Given the description of an element on the screen output the (x, y) to click on. 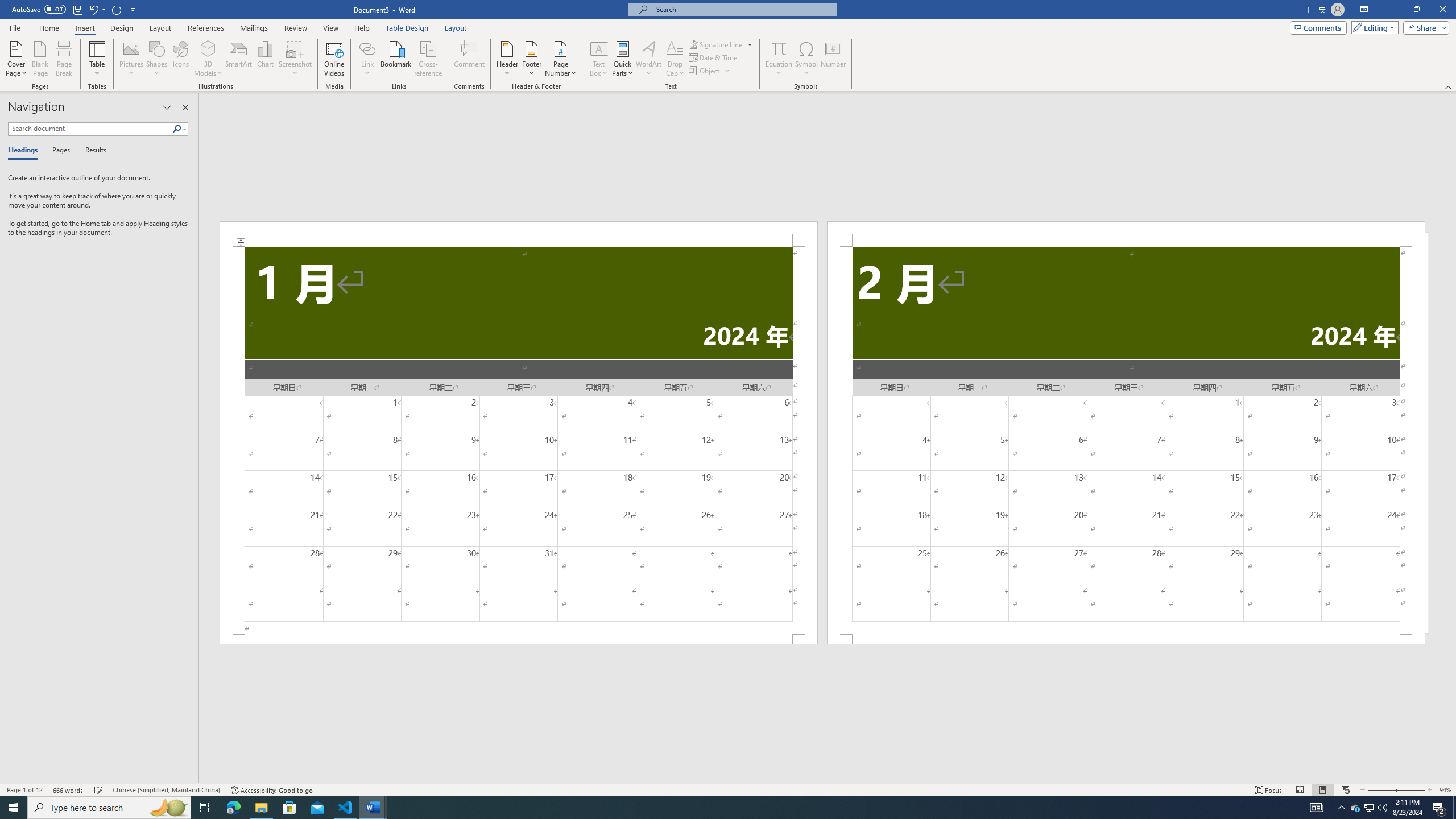
Number... (833, 58)
Repeat Doc Close (117, 9)
Class: MsoCommandBar (728, 789)
Spelling and Grammar Check Checking (98, 790)
Undo Increase Indent (92, 9)
Footer -Section 2- (1126, 638)
Text Box (598, 58)
Page Number Page 1 of 12 (24, 790)
Footer -Section 1- (518, 638)
Page Break (63, 58)
